Given the description of an element on the screen output the (x, y) to click on. 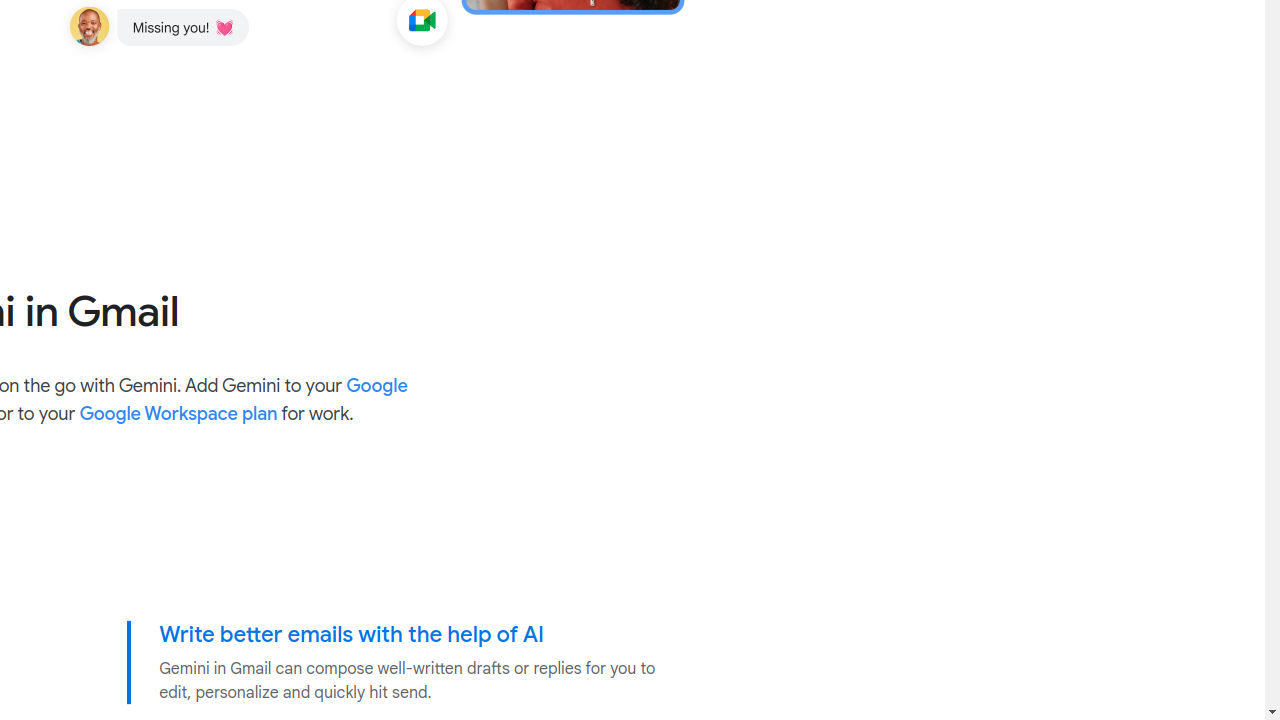
Google Workspace plan Element type: link (178, 414)
Write better emails with the help of AI Gemini in Gmail can compose well-written drafts or replies for you to edit, personalize and quickly hit send. Element type: page-tab (412, 663)
